Given the description of an element on the screen output the (x, y) to click on. 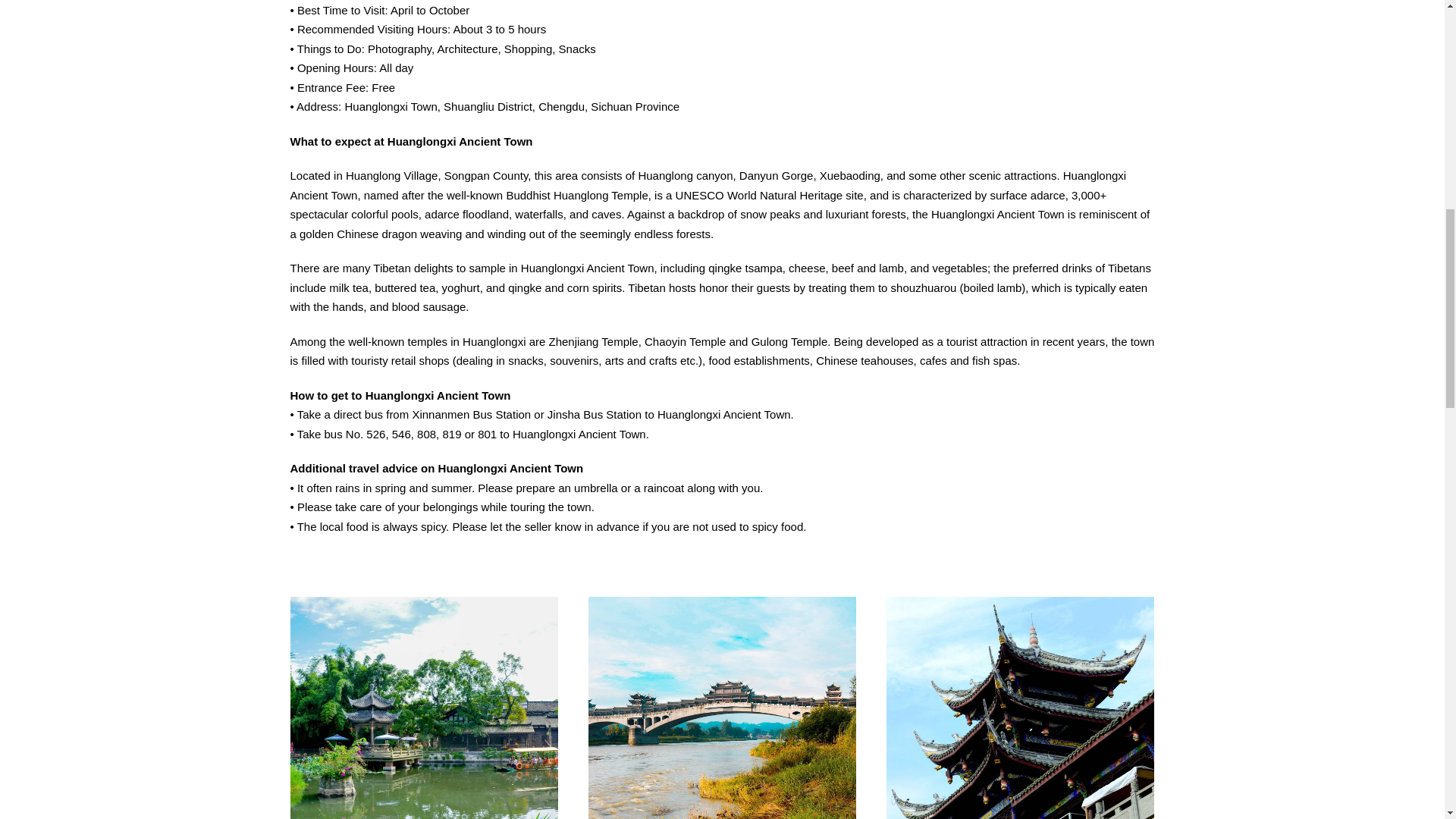
Huanglongxi Ancient Town (423, 708)
Huanglongxi Ancient Town (722, 708)
Huanglongxi Ancient Town (1020, 708)
